Given the description of an element on the screen output the (x, y) to click on. 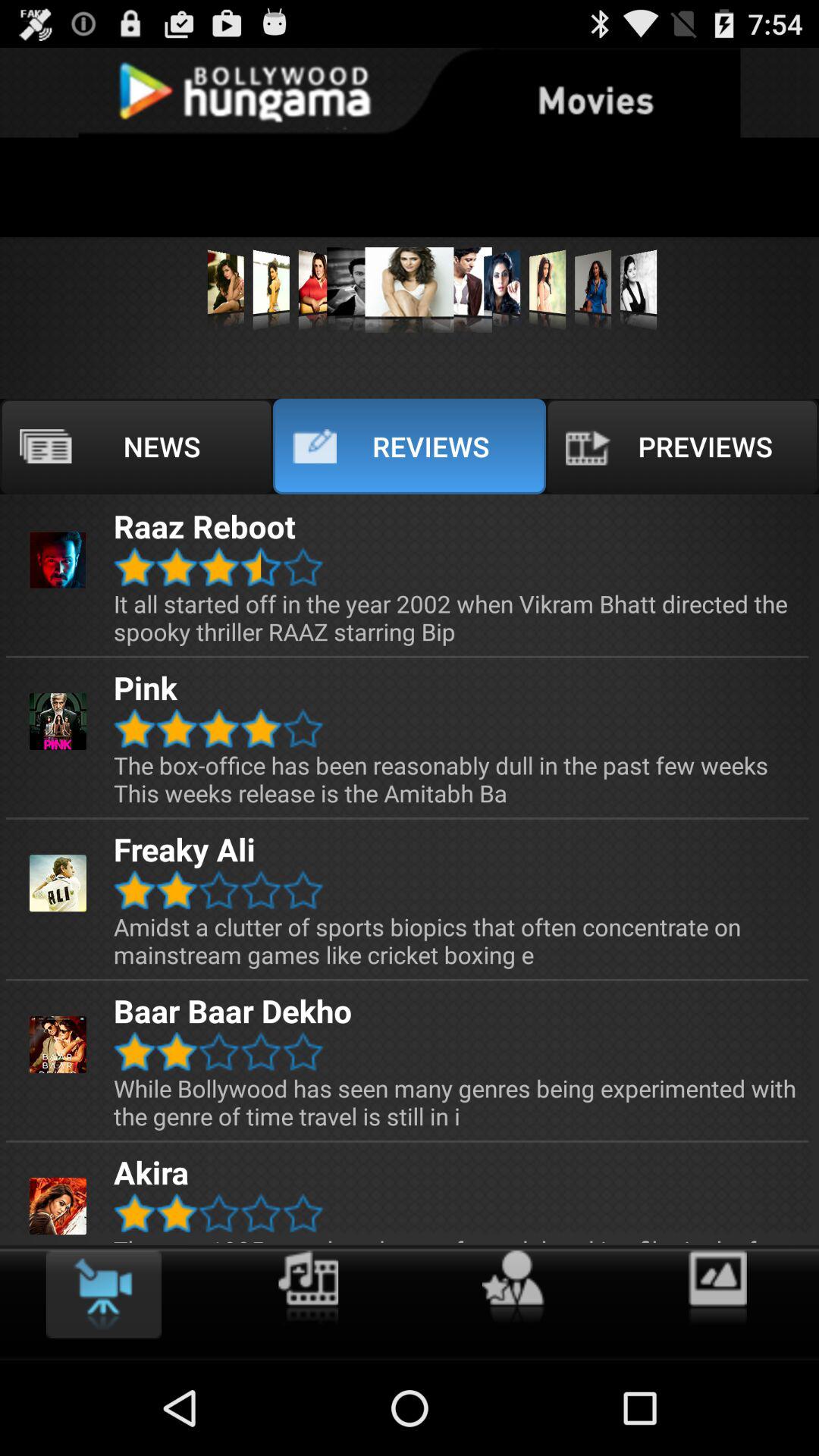
click on the akira profile (57, 1205)
click on the image of freaky ali (57, 882)
